Given the description of an element on the screen output the (x, y) to click on. 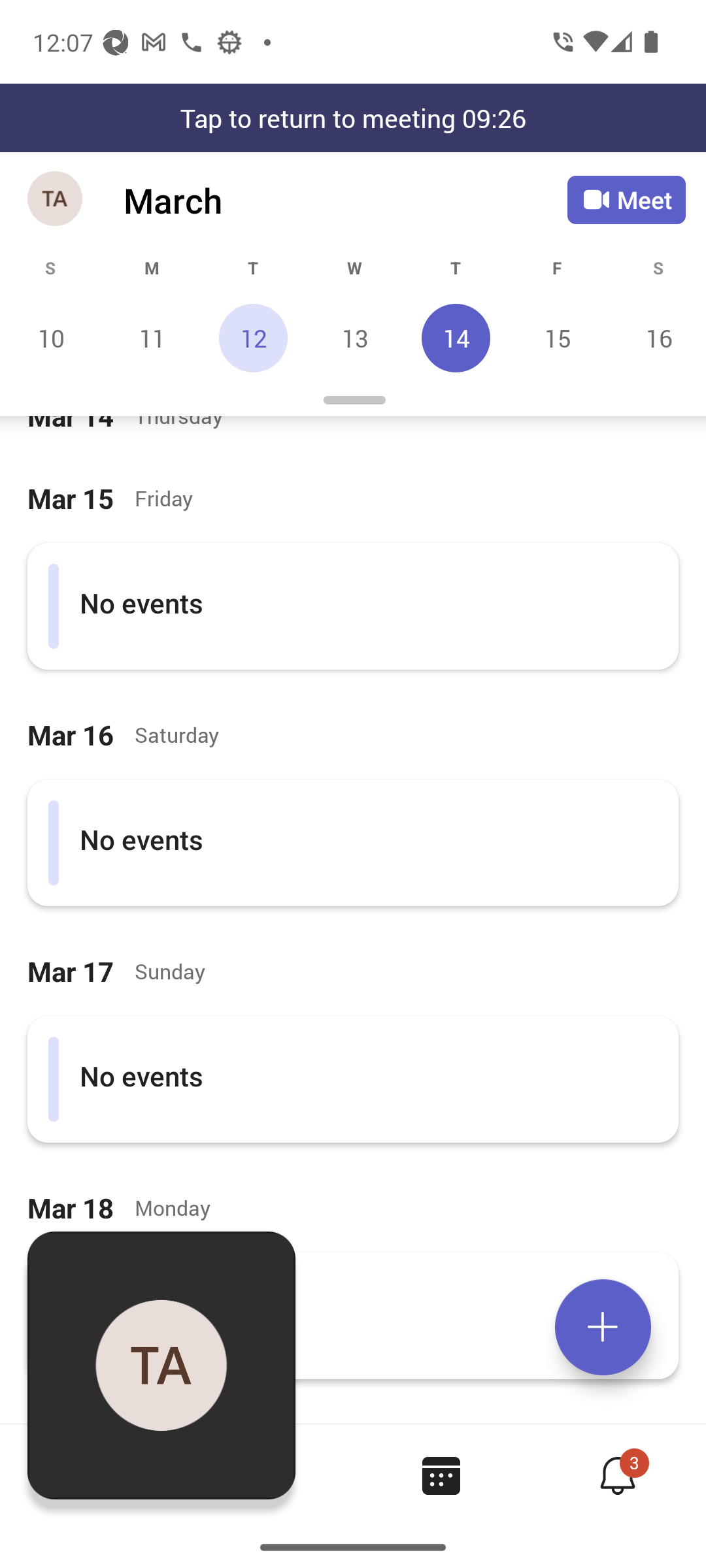
Tap to return to meeting 09:26 (353, 117)
Navigation (56, 199)
Meet Meet now or join with an ID (626, 199)
March March Calendar Agenda View (345, 199)
Sunday, March 10 10 (50, 337)
Monday, March 11 11 (151, 337)
Tuesday, March 12, Today 12 (253, 337)
Wednesday, March 13 13 (354, 337)
Thursday, March 14, Selected 14 (455, 337)
Friday, March 15 15 (556, 337)
Saturday, March 16 16 (656, 337)
Expand meetings menu (602, 1327)
Calendar tab, 3 of 4 (441, 1475)
Activity tab,4 of 4, not selected, 3 new 3 (617, 1475)
